Given the description of an element on the screen output the (x, y) to click on. 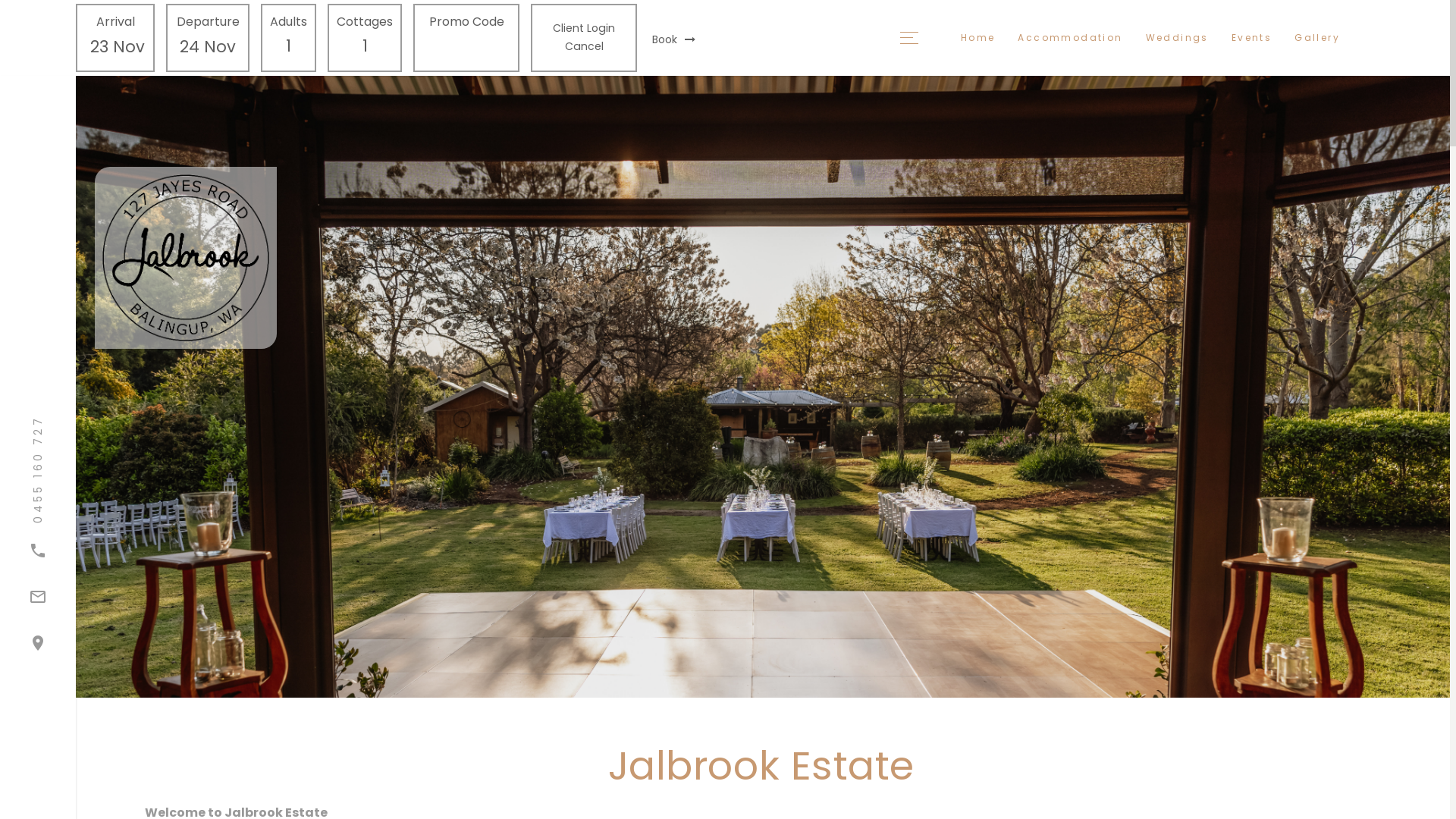
Accommodation Element type: text (1069, 37)
Client Login Element type: text (583, 27)
Cancel Element type: text (583, 45)
Book Element type: text (673, 38)
Events Element type: text (1251, 37)
Jalbrook Estate Element type: hover (246, 257)
Home Element type: text (978, 37)
Gallery Element type: text (1317, 37)
Weddings Element type: text (1177, 37)
